Given the description of an element on the screen output the (x, y) to click on. 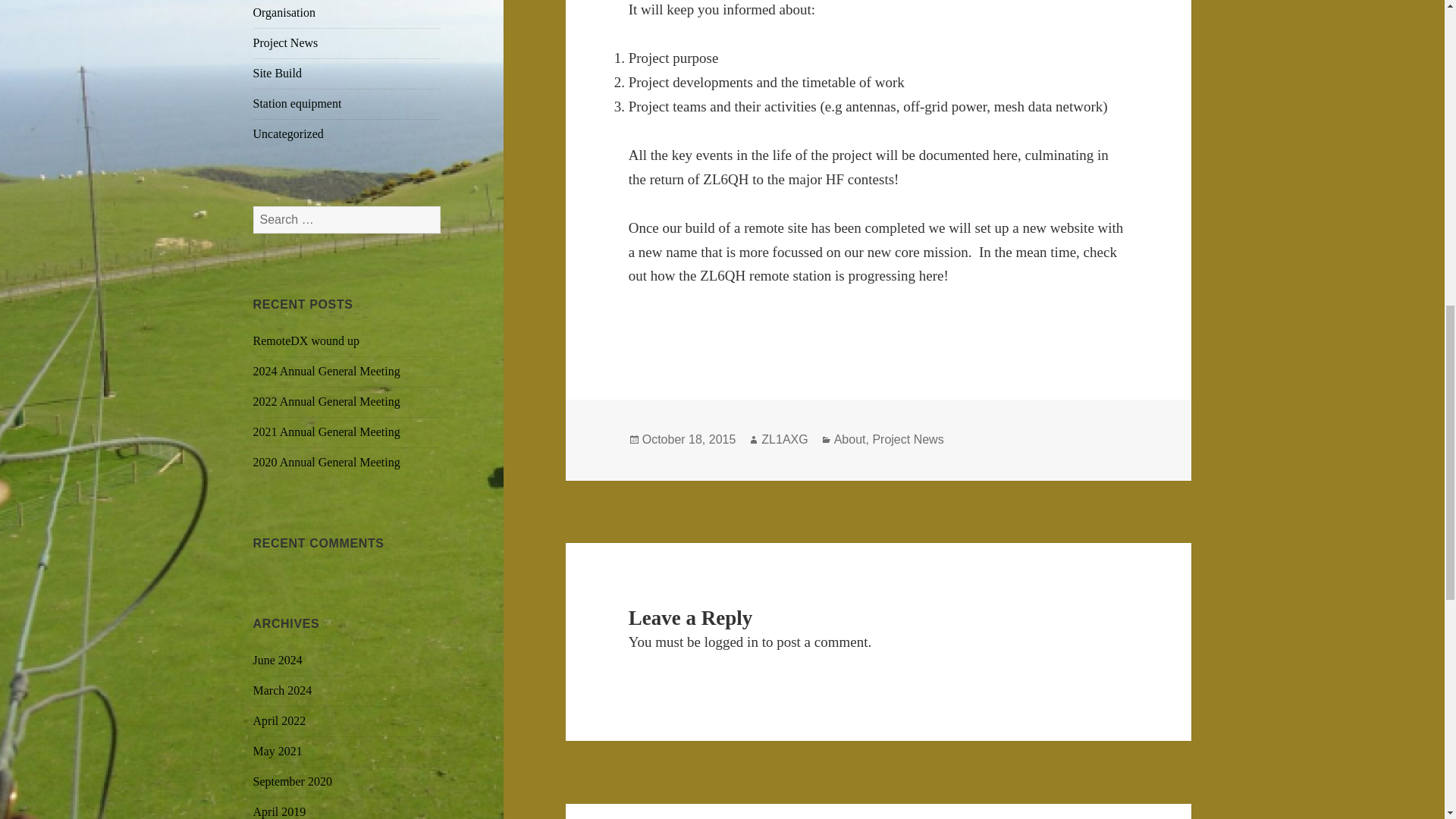
April 2022 (279, 720)
2024 Annual General Meeting (326, 370)
Uncategorized (288, 133)
May 2021 (277, 750)
2021 Annual General Meeting (326, 431)
RemoteDX wound up (306, 340)
June 2024 (277, 659)
2020 Annual General Meeting (326, 461)
Project News (285, 42)
March 2024 (283, 689)
April 2019 (279, 811)
Station equipment (297, 103)
Site Build (277, 72)
